Given the description of an element on the screen output the (x, y) to click on. 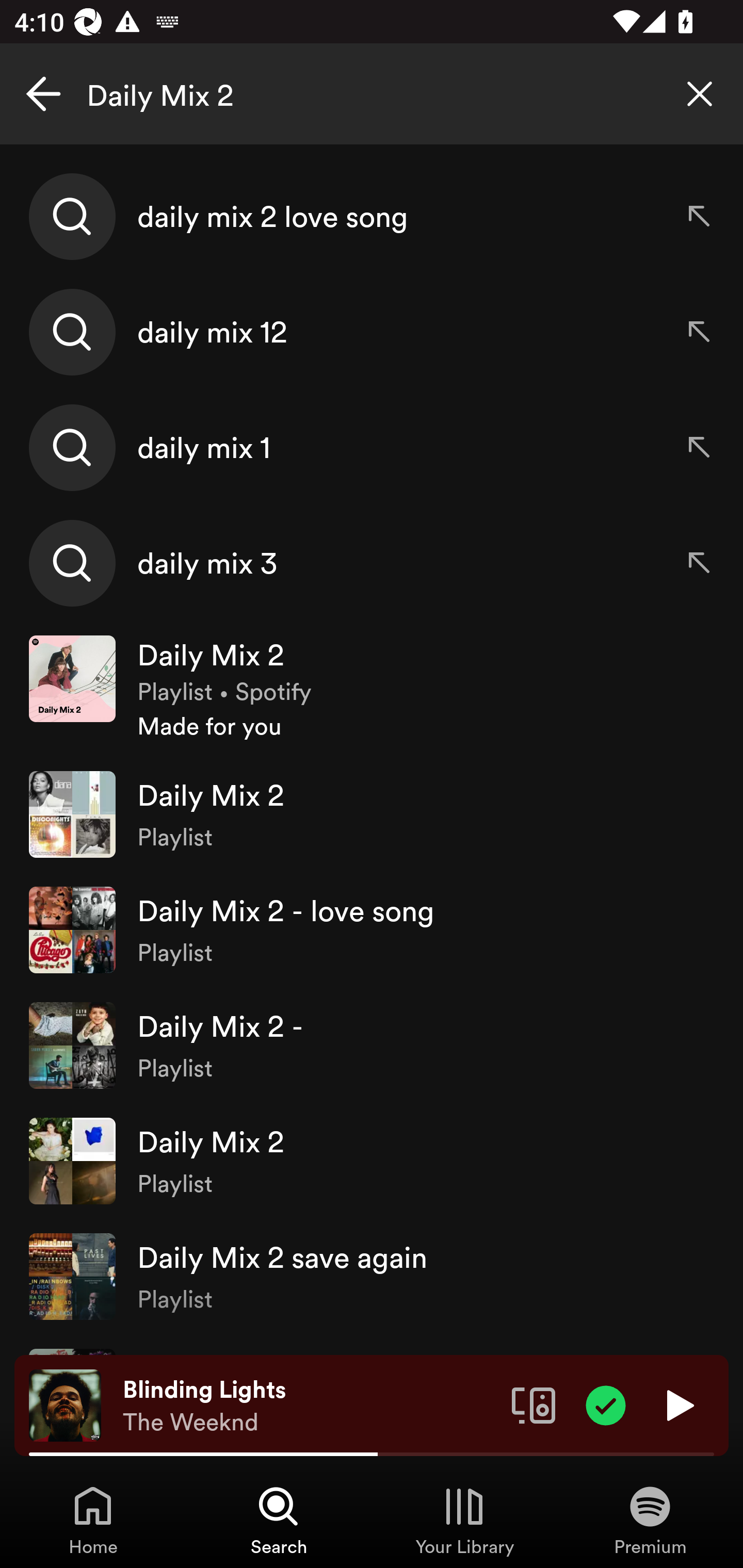
Daily Mix 2 (371, 93)
Cancel (43, 93)
Clear search query (699, 93)
daily mix 2 love song (371, 216)
daily mix 12 (371, 332)
daily mix 1 (371, 447)
daily mix 3 (371, 562)
Daily Mix 2 Playlist • Spotify Made for you (371, 688)
Daily Mix 2 Playlist (371, 814)
Daily Mix 2 - love song Playlist (371, 929)
Daily Mix 2 - Playlist (371, 1045)
Daily Mix 2 Playlist (371, 1160)
Daily Mix 2 save again Playlist (371, 1276)
Blinding Lights The Weeknd (309, 1405)
The cover art of the currently playing track (64, 1404)
Connect to a device. Opens the devices menu (533, 1404)
Item added (605, 1404)
Play (677, 1404)
Home, Tab 1 of 4 Home Home (92, 1519)
Search, Tab 2 of 4 Search Search (278, 1519)
Your Library, Tab 3 of 4 Your Library Your Library (464, 1519)
Premium, Tab 4 of 4 Premium Premium (650, 1519)
